Given the description of an element on the screen output the (x, y) to click on. 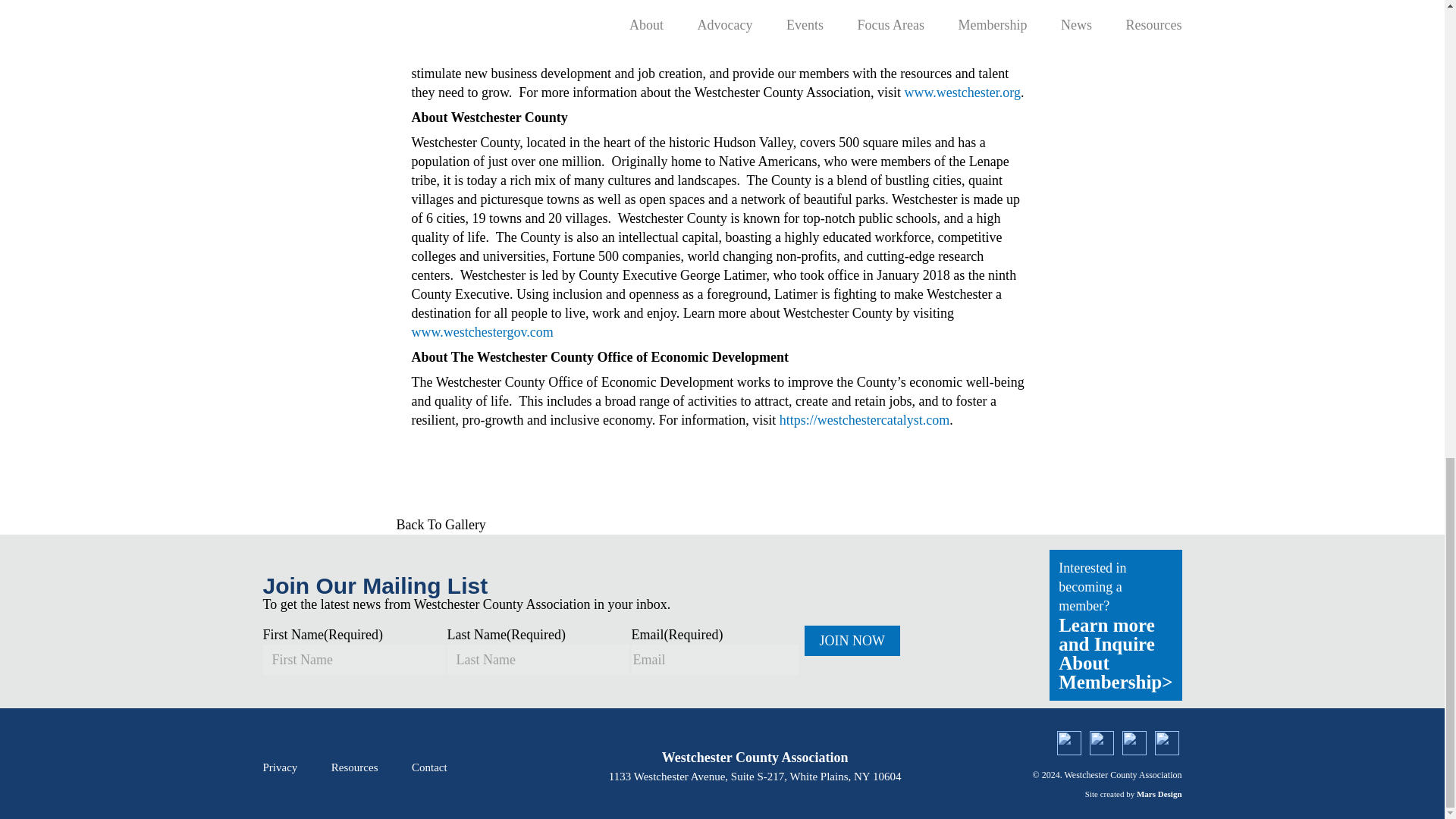
JOIN NOW (851, 640)
